Given the description of an element on the screen output the (x, y) to click on. 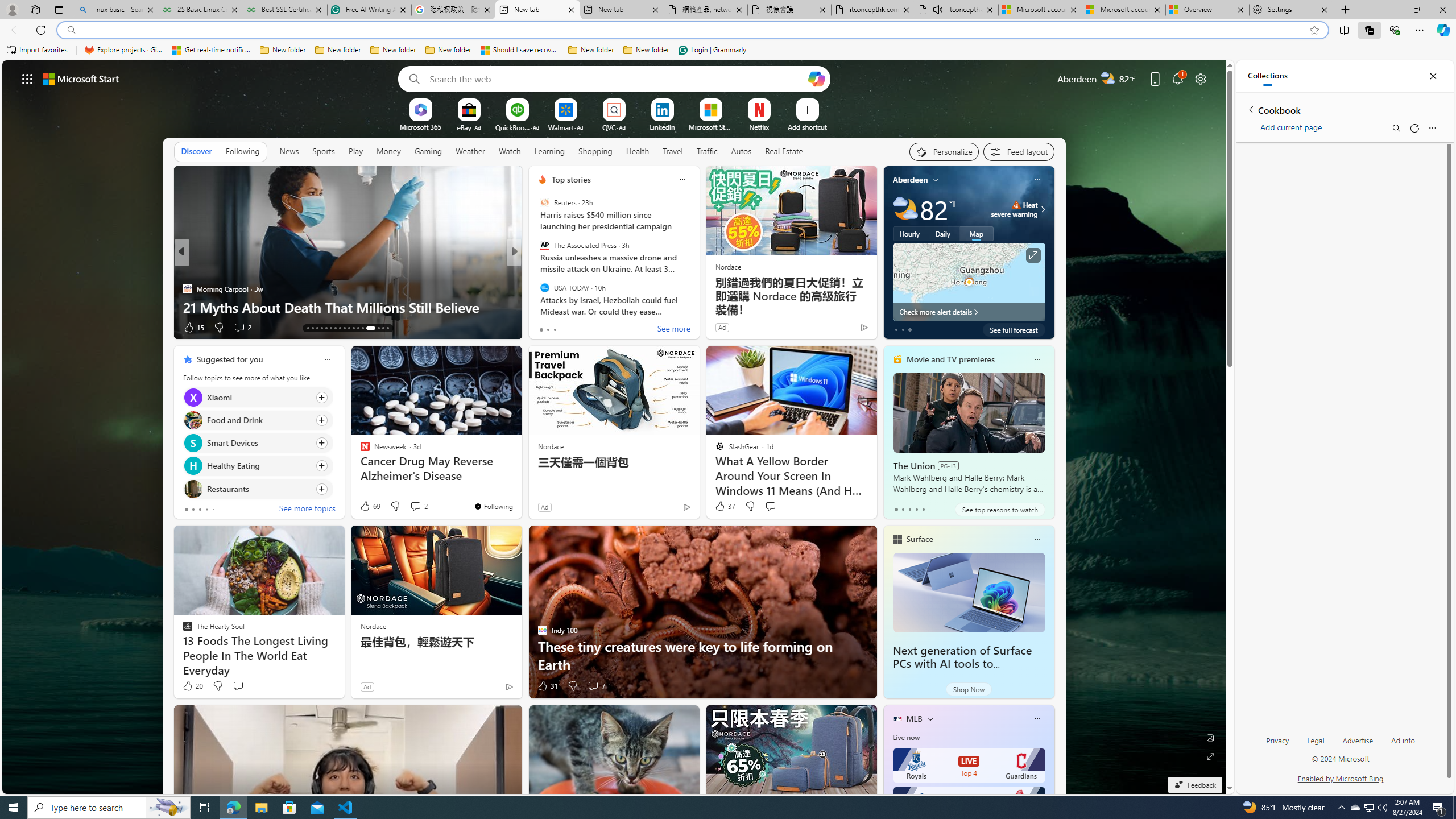
Click to follow topic Smart Devices (257, 442)
Surface (919, 538)
Traffic (706, 151)
linux basic - Search (116, 9)
Play (355, 151)
View comments 3 Comment (592, 327)
Aberdeen (910, 179)
View comments 7 Comment (596, 685)
Heat - Severe Heat severe warning (1014, 208)
tab-4 (923, 509)
Watch (509, 151)
